Given the description of an element on the screen output the (x, y) to click on. 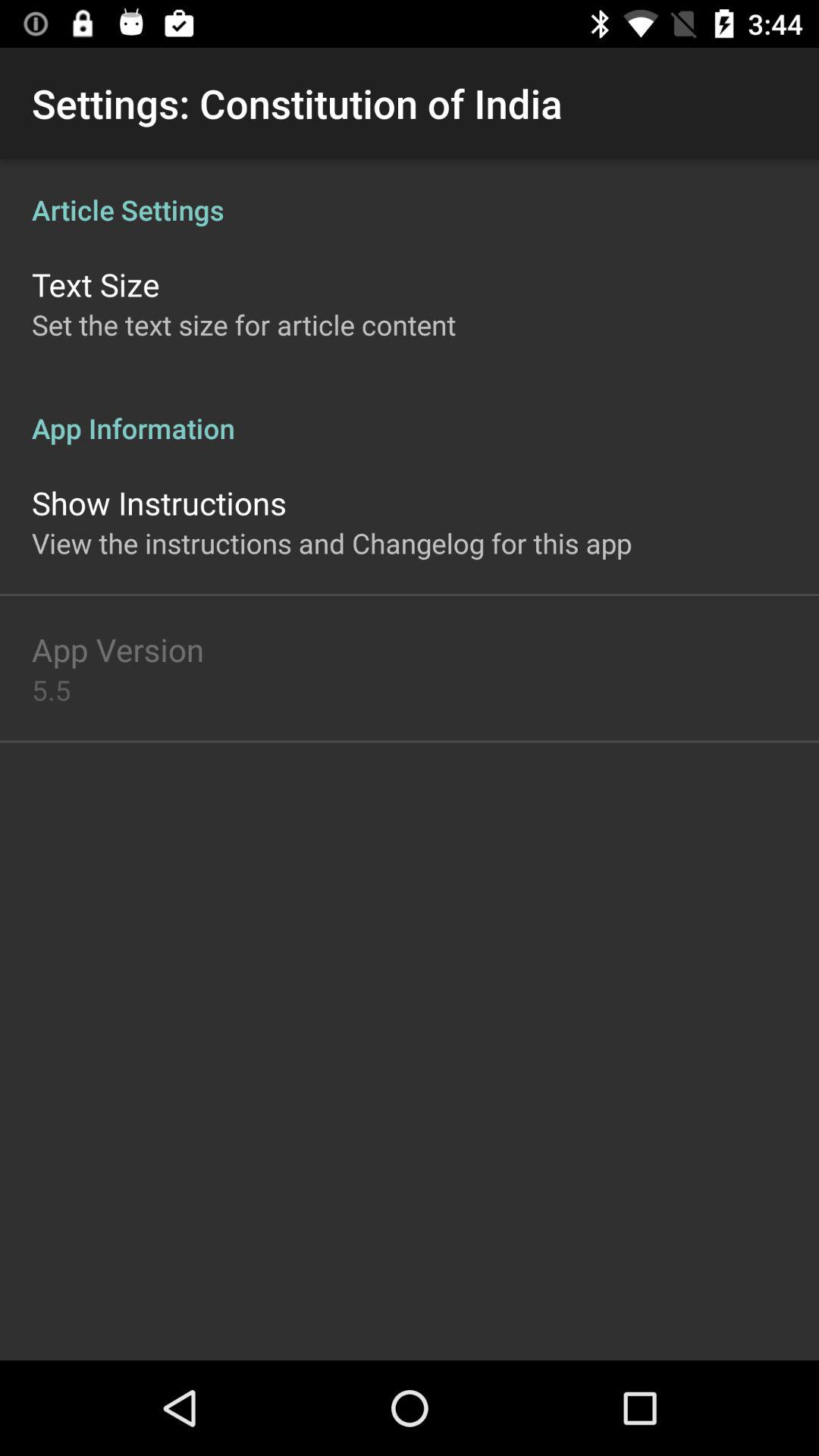
click the icon below the view the instructions icon (117, 649)
